Given the description of an element on the screen output the (x, y) to click on. 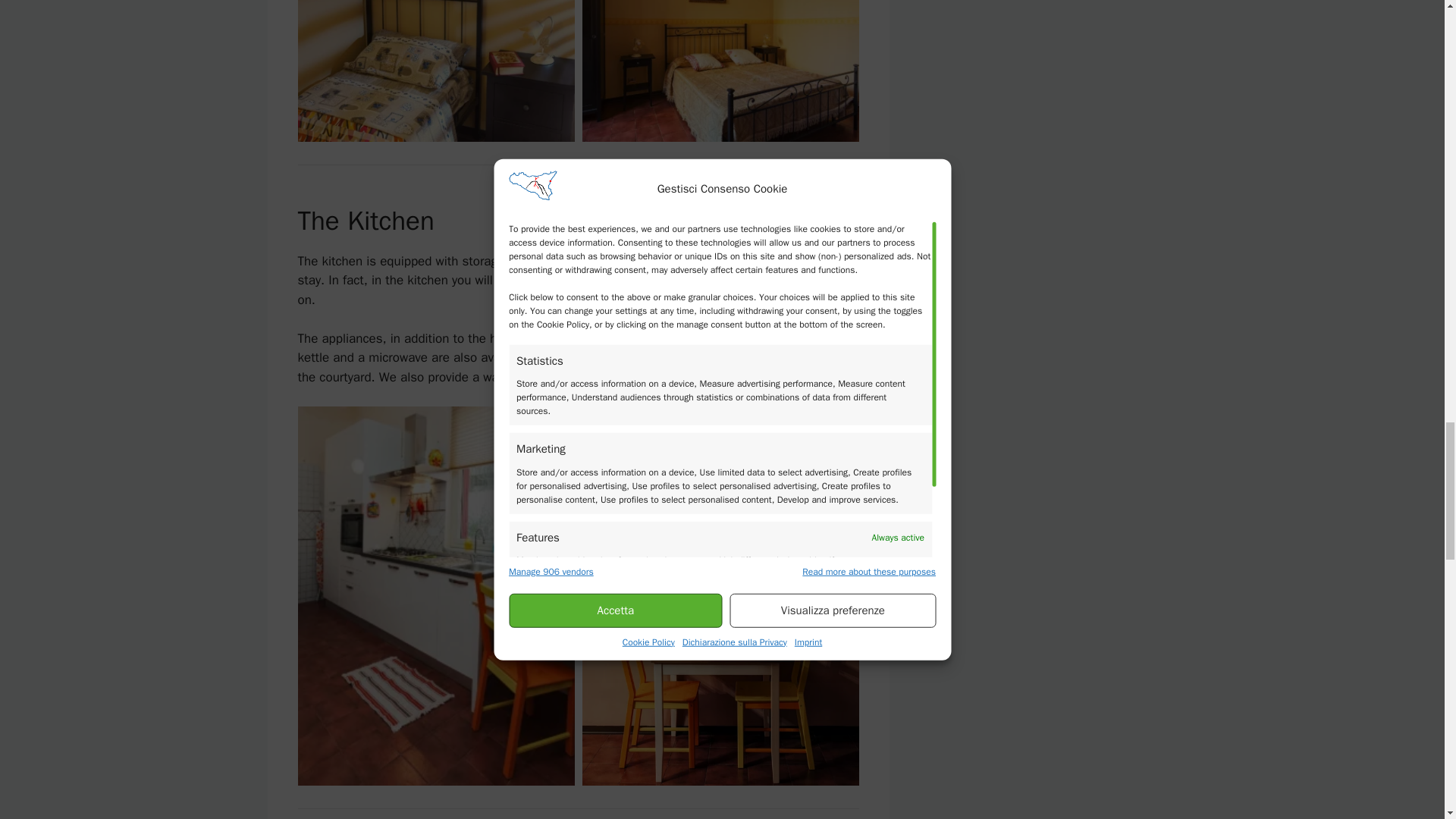
Back to top (831, 817)
Back to top (831, 180)
